Given the description of an element on the screen output the (x, y) to click on. 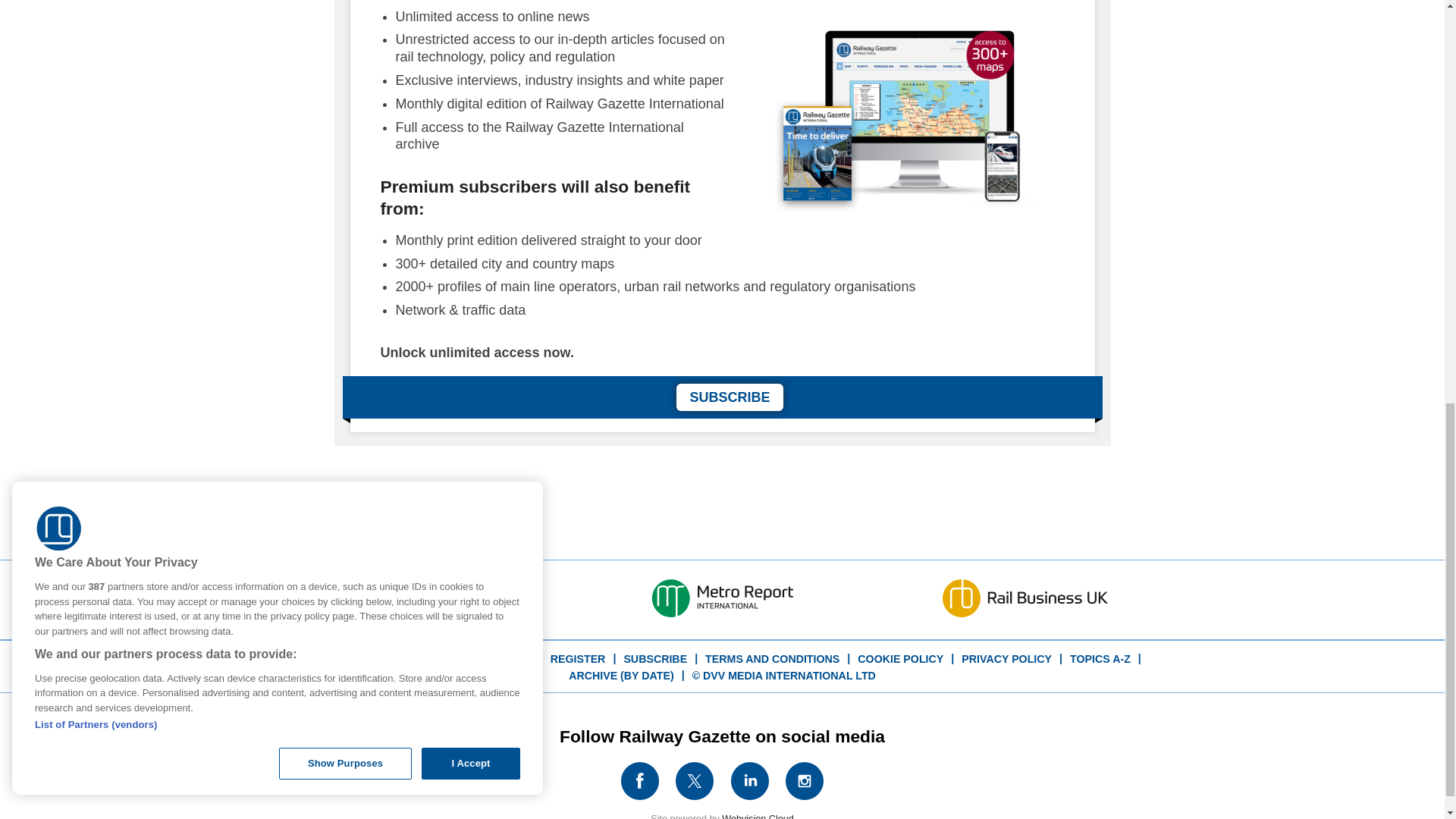
Connect with Railway Gazette on LinkedIn (750, 780)
Connect with us on Instagram (804, 780)
Connect with Railway Gazette on Facebook (639, 780)
Follow Railway Gazette on Twitter (694, 780)
